Given the description of an element on the screen output the (x, y) to click on. 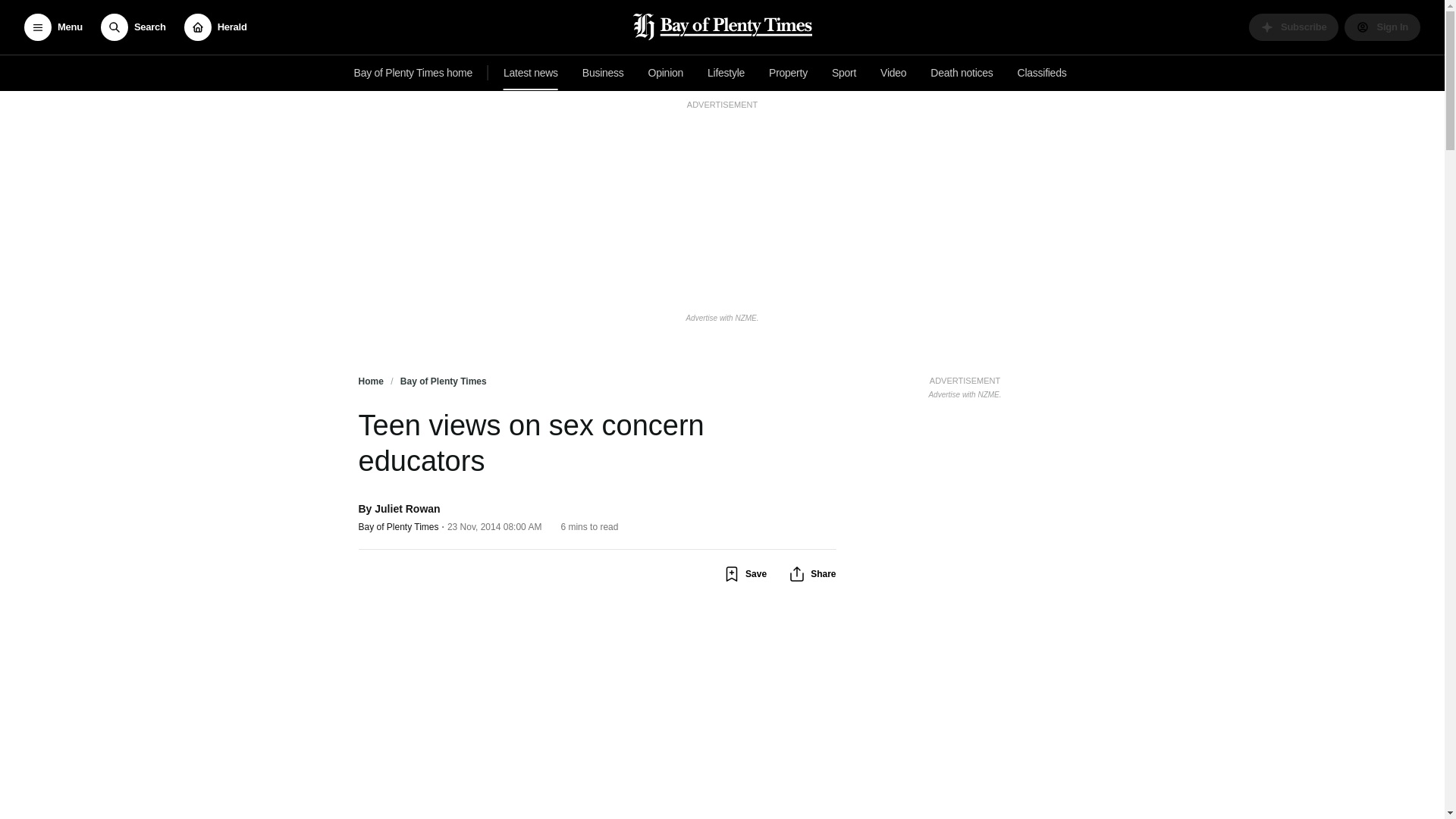
Lifestyle (726, 72)
Video (892, 72)
Business (603, 72)
Classifieds (1042, 72)
Property (788, 72)
Sign In (964, 384)
Menu (1382, 26)
Latest news (53, 26)
Sport (531, 72)
